Given the description of an element on the screen output the (x, y) to click on. 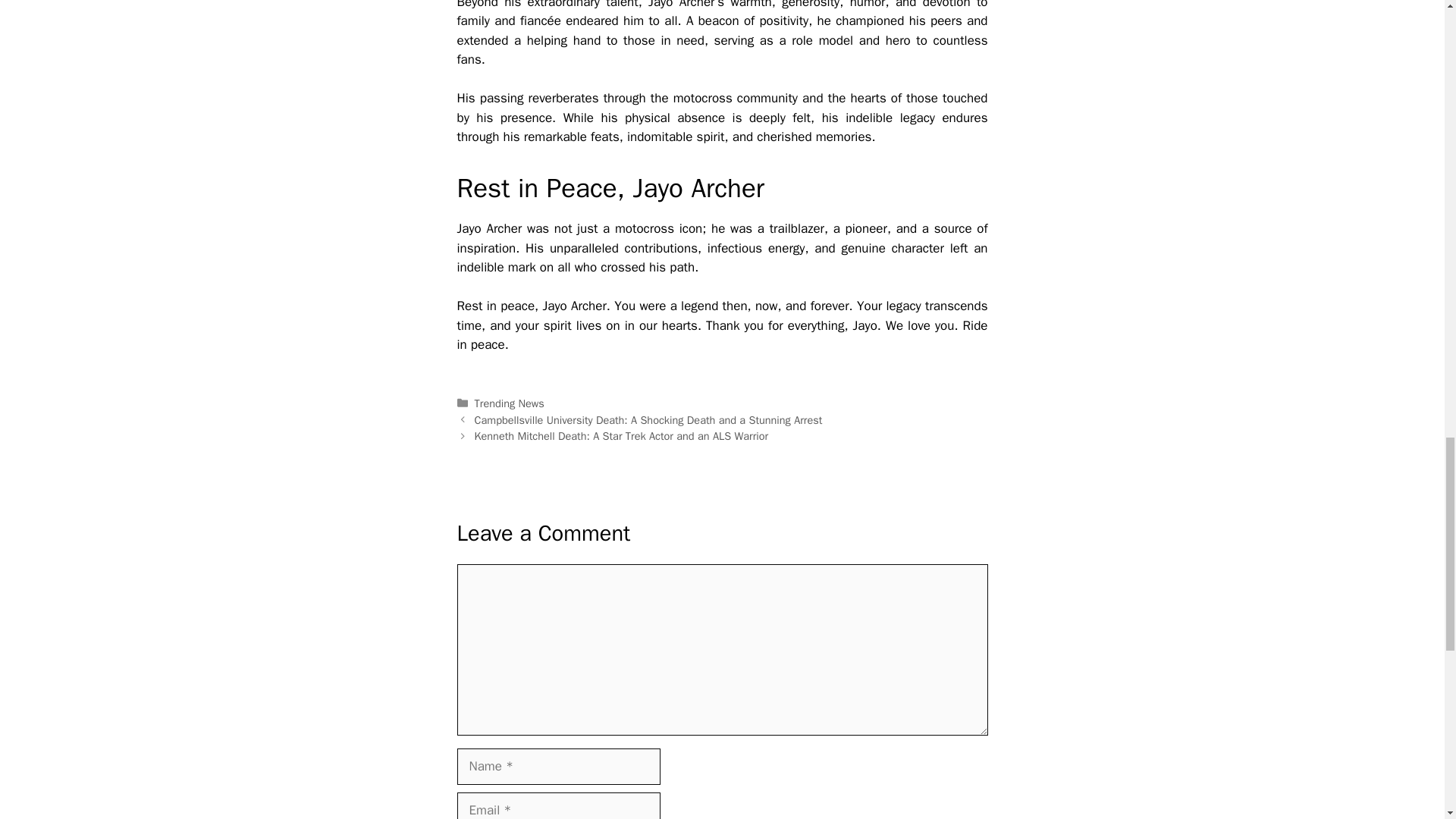
Trending News (509, 403)
Kenneth Mitchell Death: A Star Trek Actor and an ALS Warrior (621, 436)
